Given the description of an element on the screen output the (x, y) to click on. 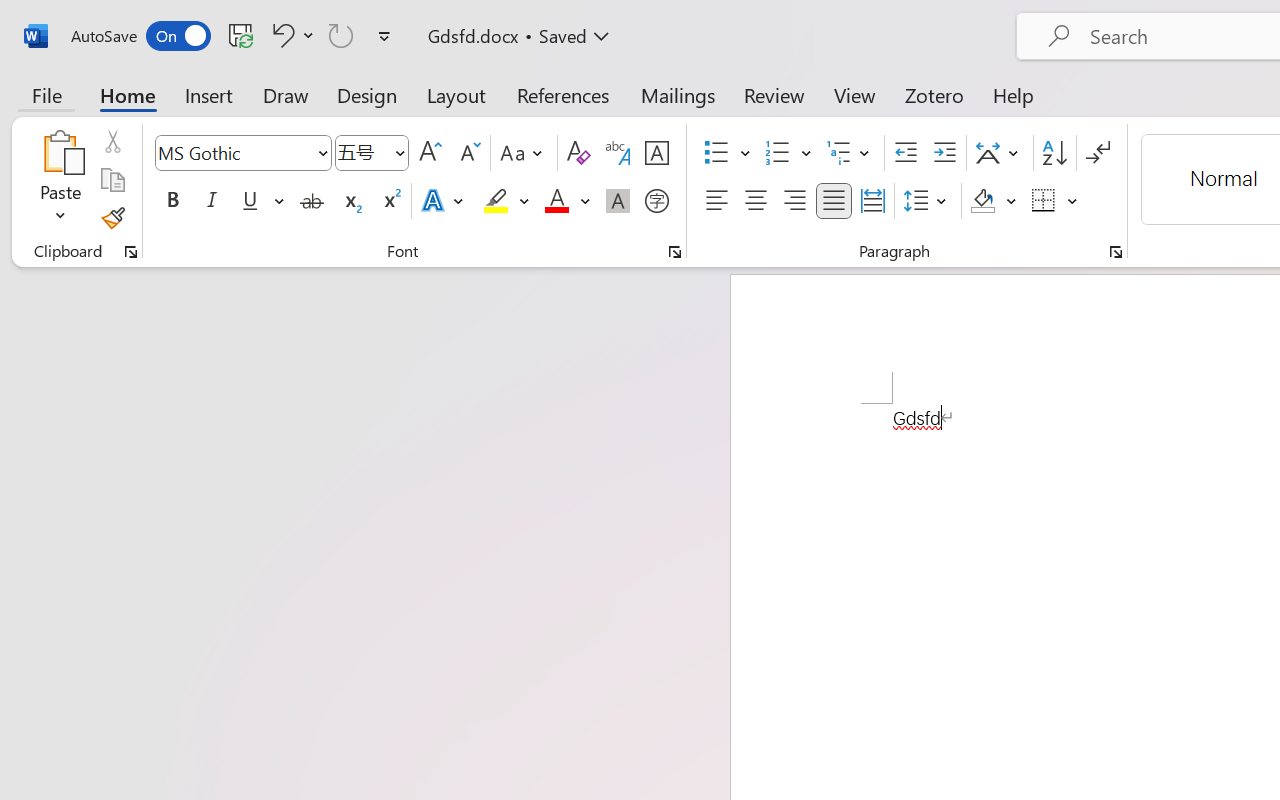
Office Clipboard... (131, 252)
Multilevel List (850, 153)
Distributed (872, 201)
Shading (993, 201)
Text Highlight Color Yellow (495, 201)
Clear Formatting (578, 153)
